Given the description of an element on the screen output the (x, y) to click on. 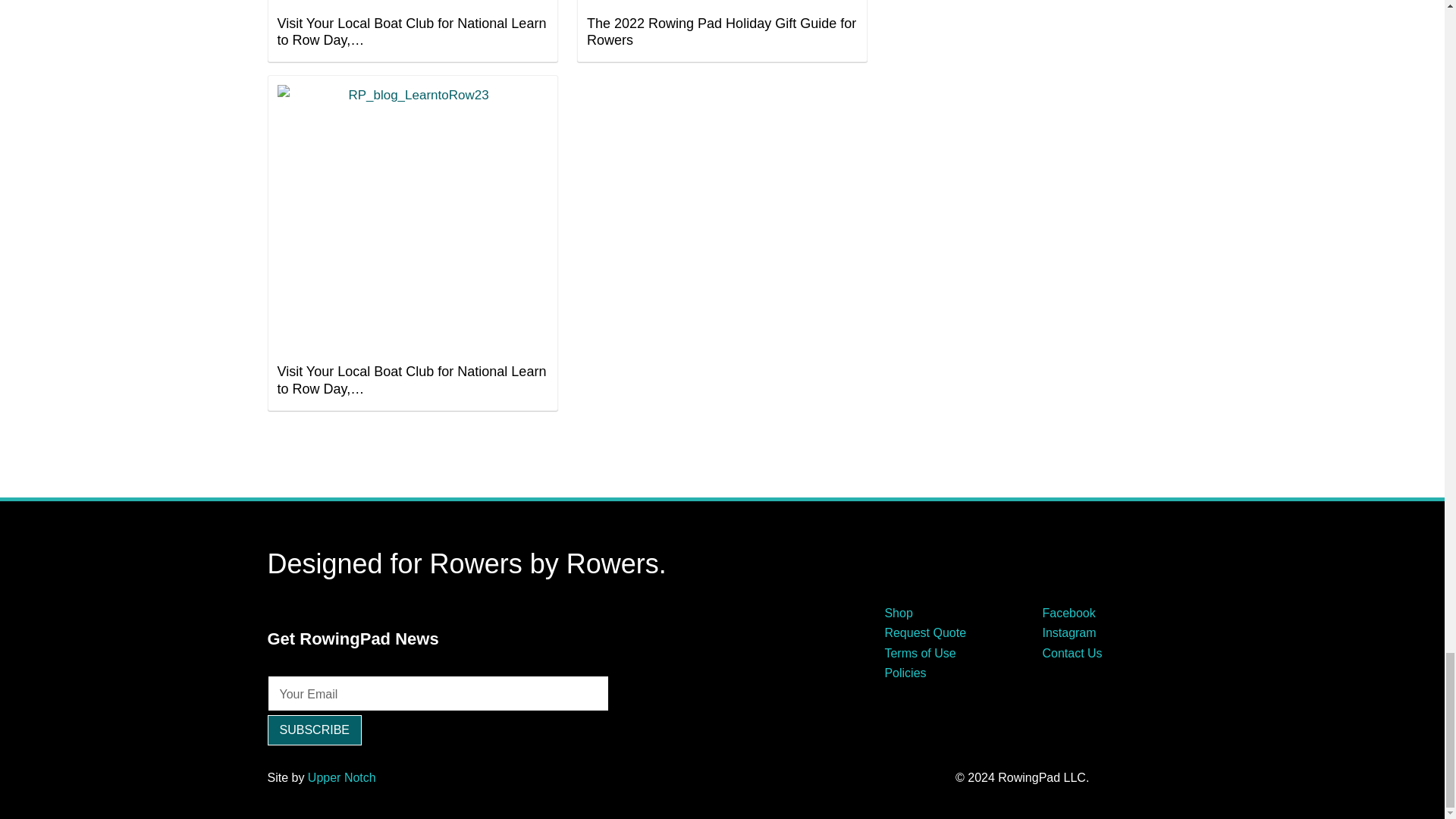
Shop (897, 612)
Instagram (1069, 632)
Request Quote (924, 632)
The 2022 Rowing Pad Holiday Gift Guide for Rowers (721, 3)
Upper Notch (341, 777)
Subscribe (313, 729)
The 2022 Rowing Pad Holiday Gift Guide for Rowers (721, 29)
Policies (904, 672)
Terms of Use (919, 653)
